Given the description of an element on the screen output the (x, y) to click on. 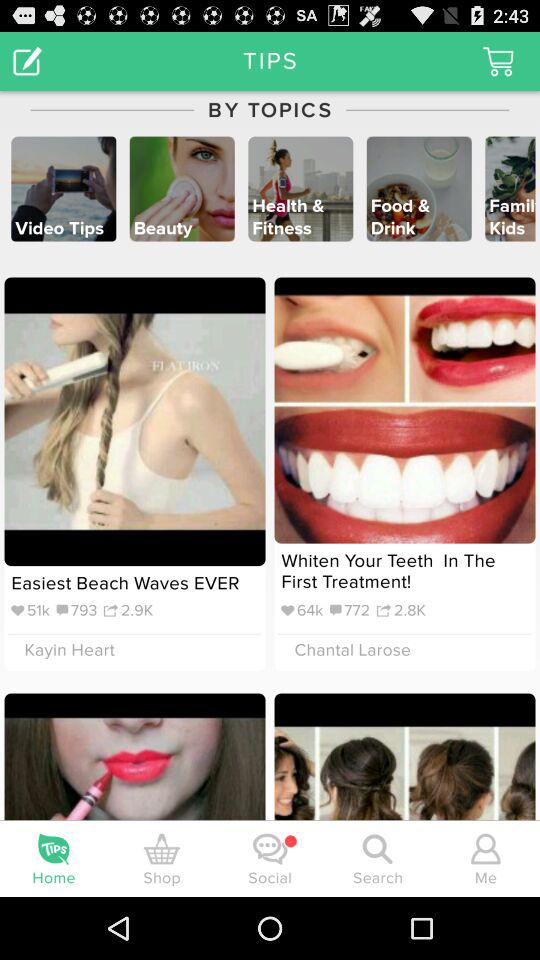
open shopping cart (498, 60)
